Given the description of an element on the screen output the (x, y) to click on. 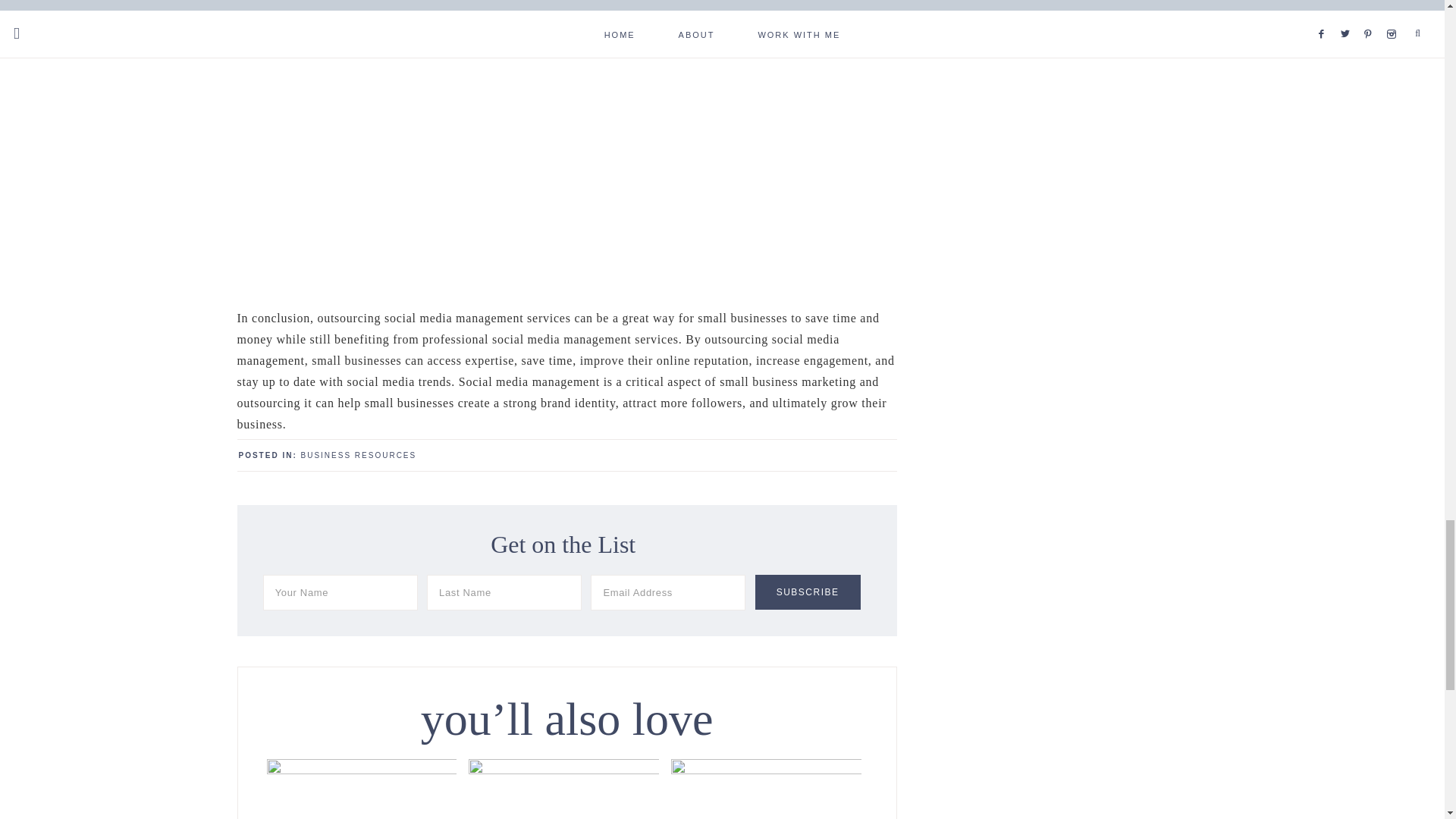
Permanent Link to Why Consistency is Key in Content Creation (563, 769)
Subscribe (807, 591)
Subscribe (807, 591)
BUSINESS RESOURCES (358, 455)
